Given the description of an element on the screen output the (x, y) to click on. 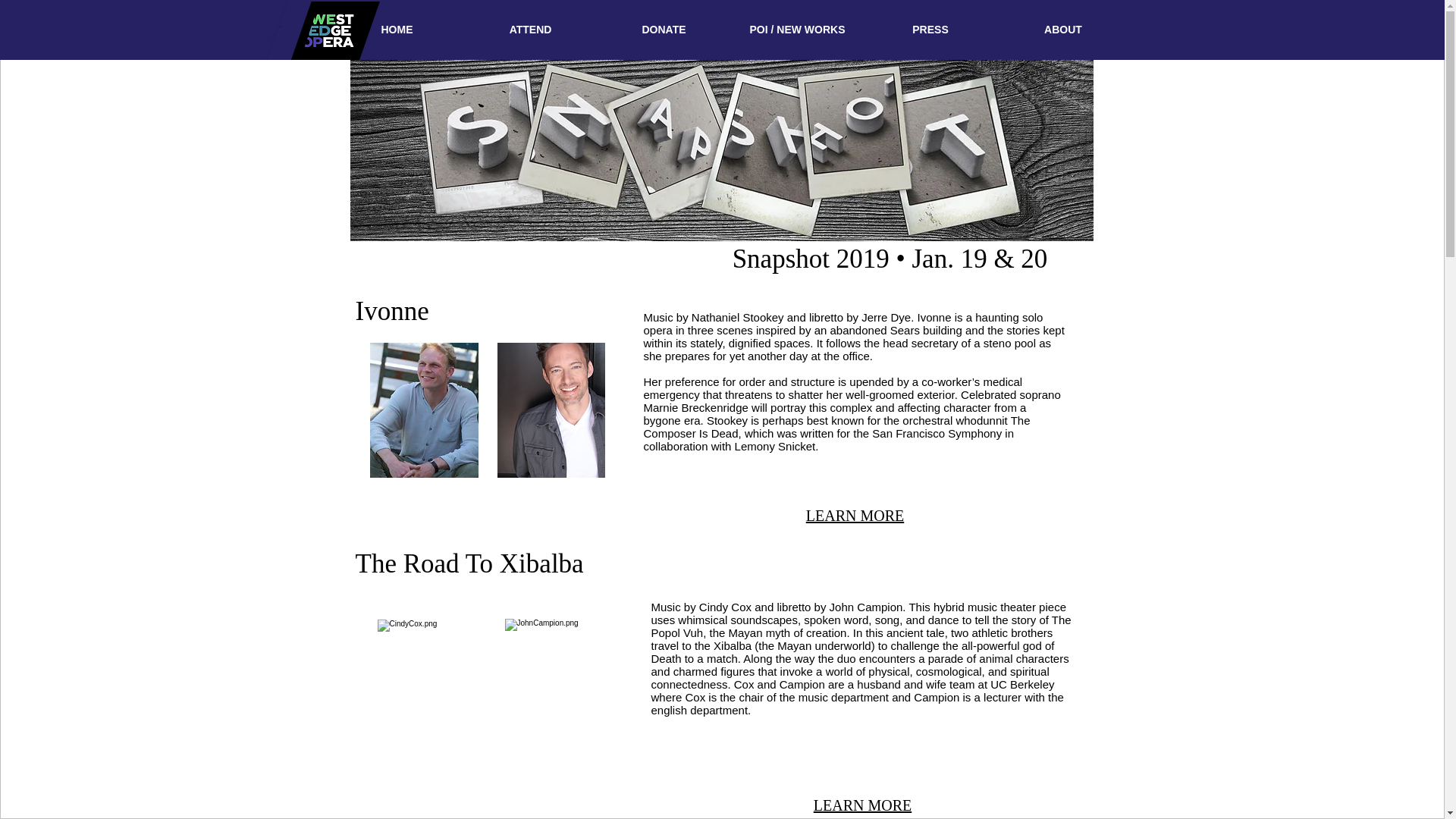
HOME (397, 29)
LEARN MORE (855, 515)
LEARN MORE (862, 805)
